Given the description of an element on the screen output the (x, y) to click on. 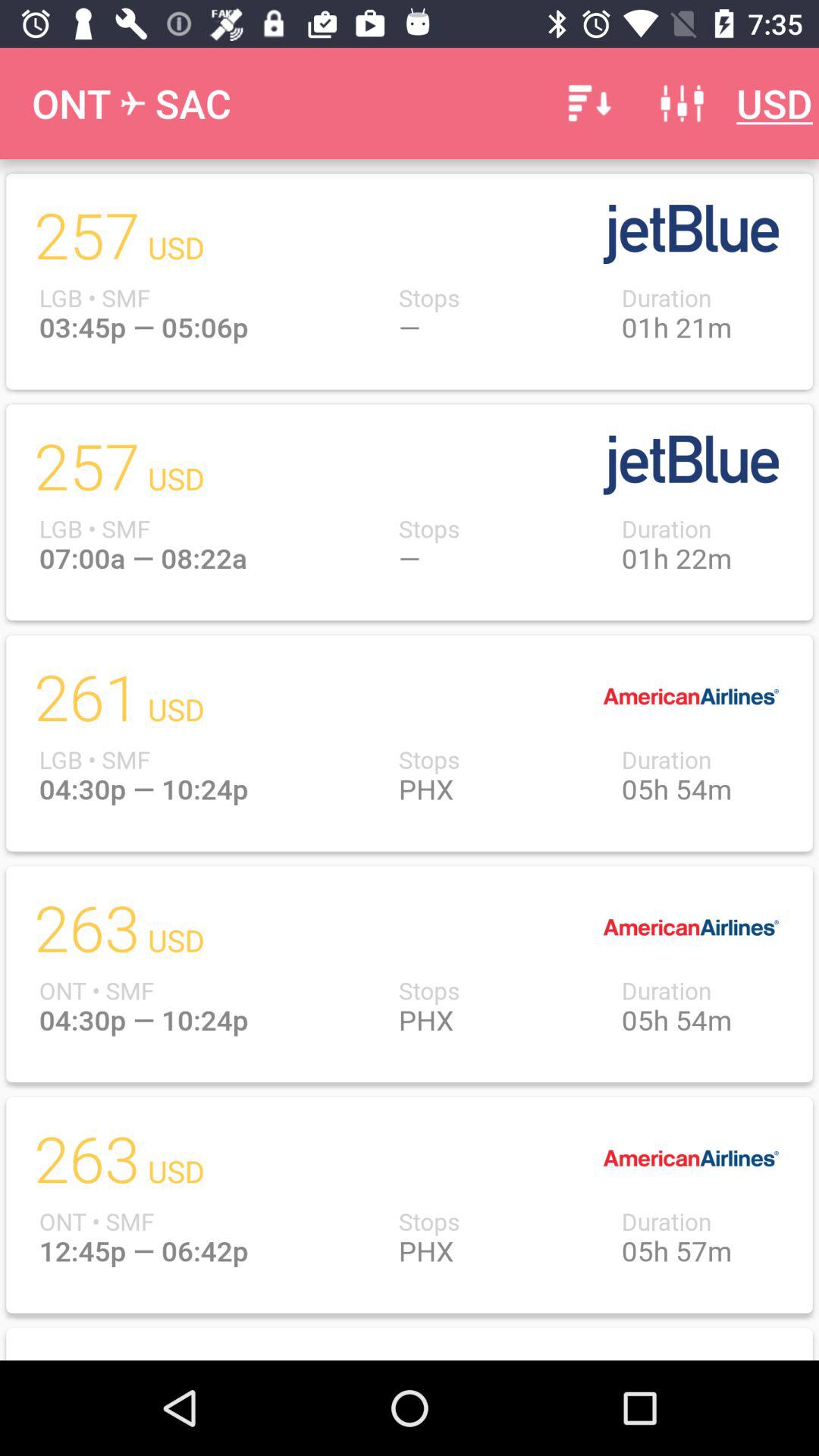
choose the item to the right of the sac item (586, 103)
